Given the description of an element on the screen output the (x, y) to click on. 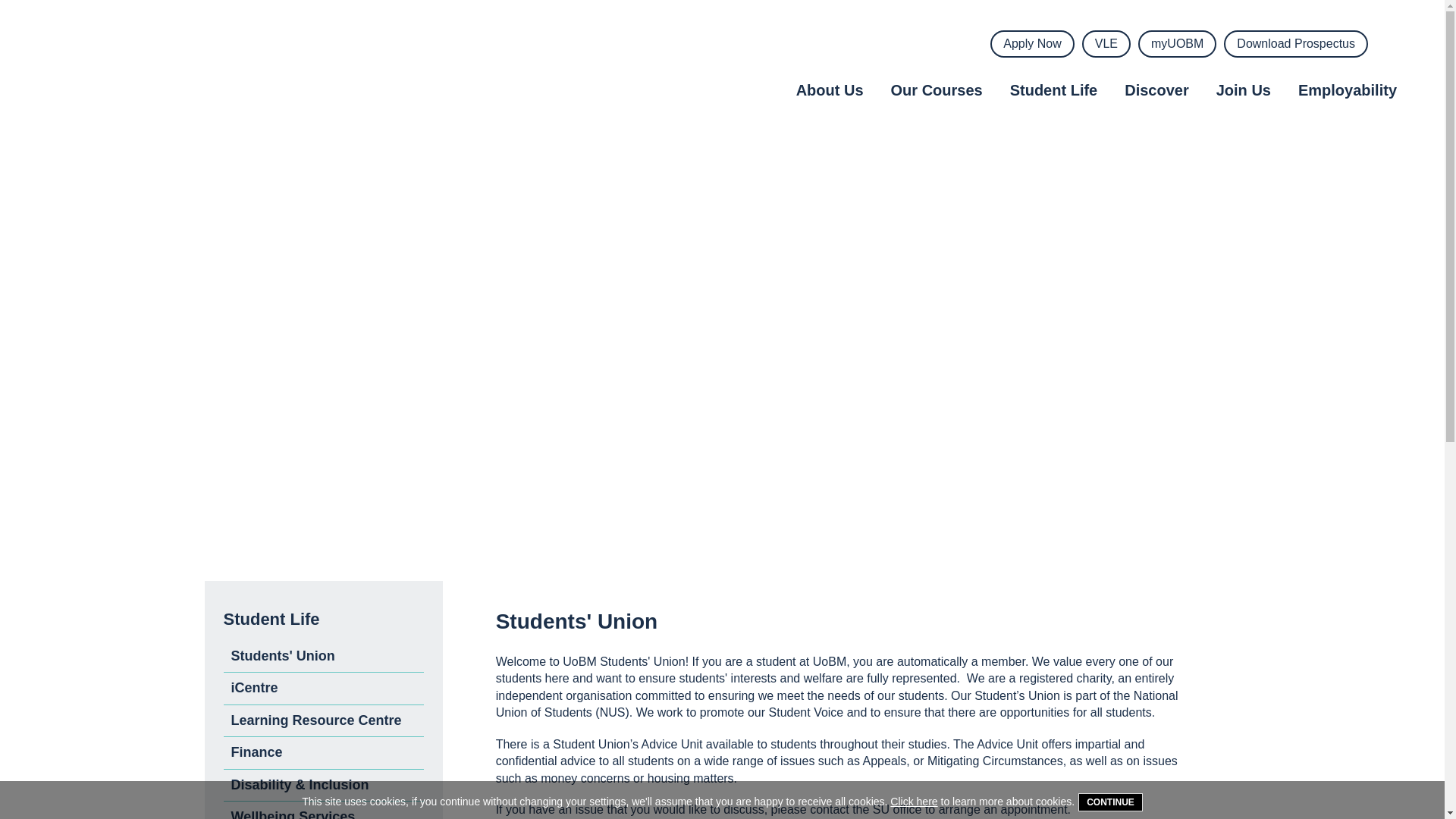
myUOBM (1176, 43)
Student Life (1054, 90)
Apply Now (1032, 43)
Our Courses (936, 90)
About Us (829, 90)
VLE (1106, 43)
Download Prospectus (1296, 43)
